Given the description of an element on the screen output the (x, y) to click on. 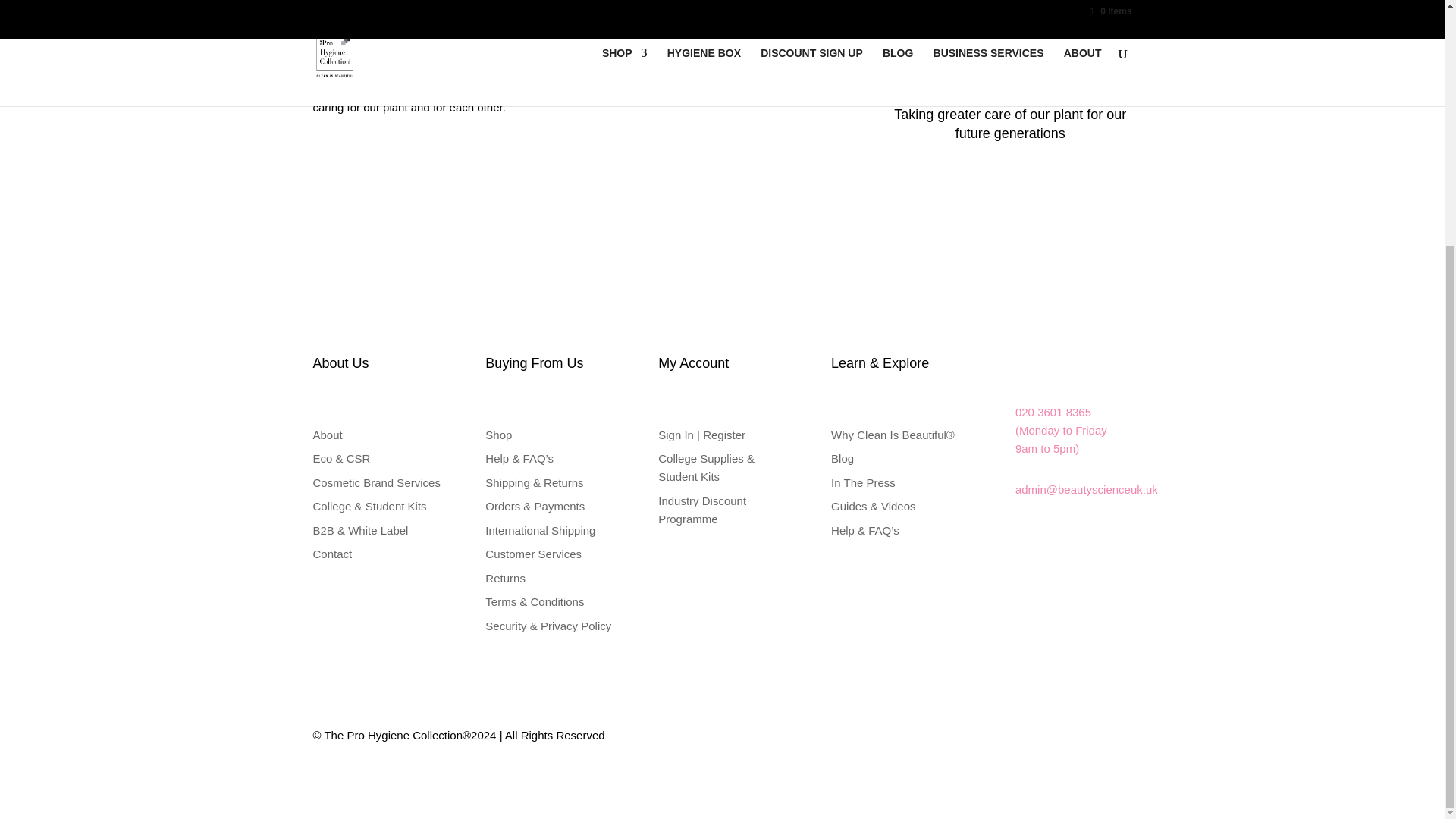
International Shipping (539, 530)
About (327, 434)
Follow on Facebook (348, 779)
Blog (842, 458)
Shop (498, 434)
Follow on Instagram (324, 779)
Cosmetic Brand Services (376, 481)
In The Press (863, 481)
Contact (332, 553)
Returns (504, 577)
Follow on Youtube (373, 779)
Industry Discount Programme (701, 509)
Customer Services (532, 553)
